Given the description of an element on the screen output the (x, y) to click on. 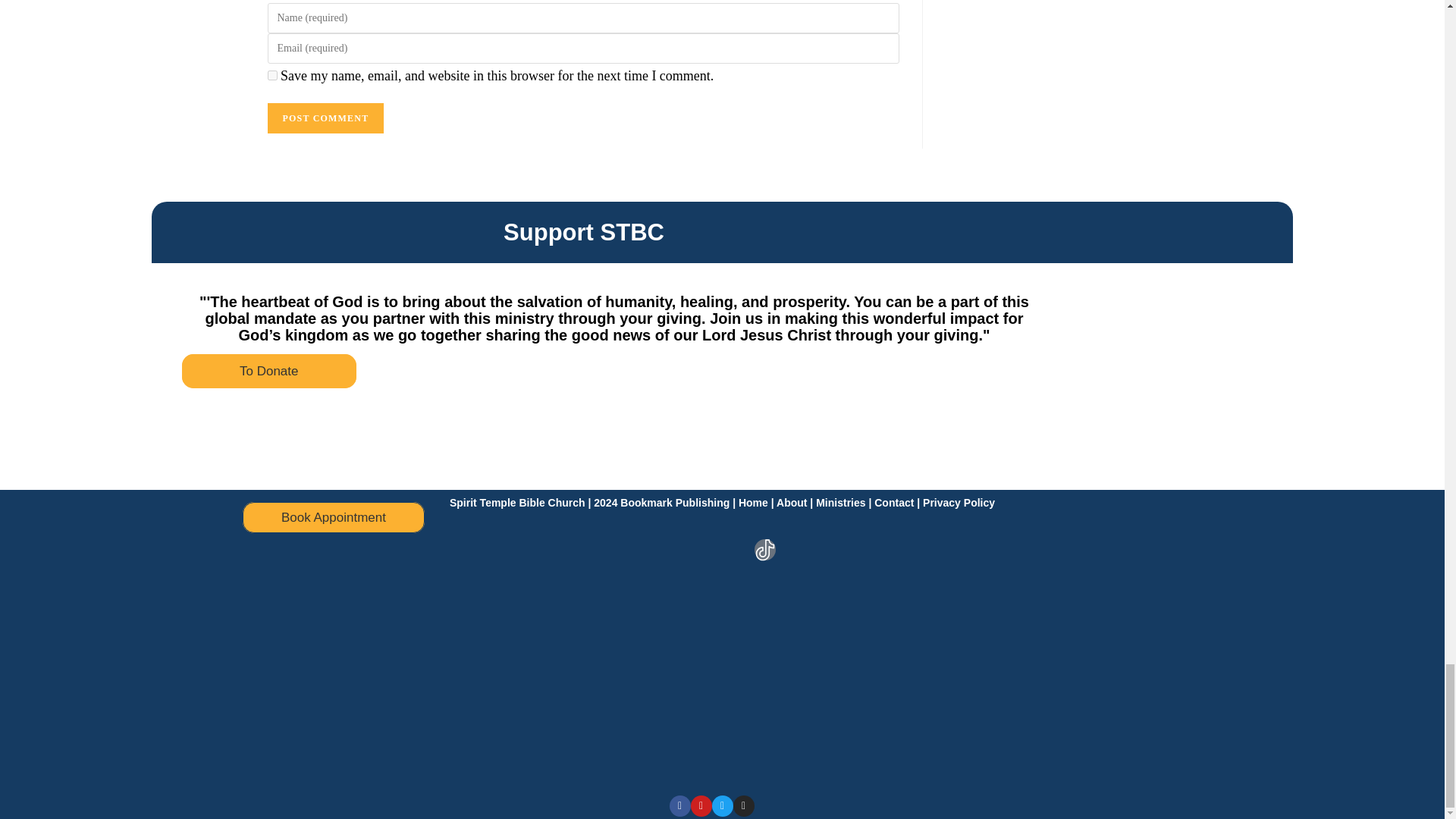
Post Comment (325, 118)
yes (271, 75)
